Given the description of an element on the screen output the (x, y) to click on. 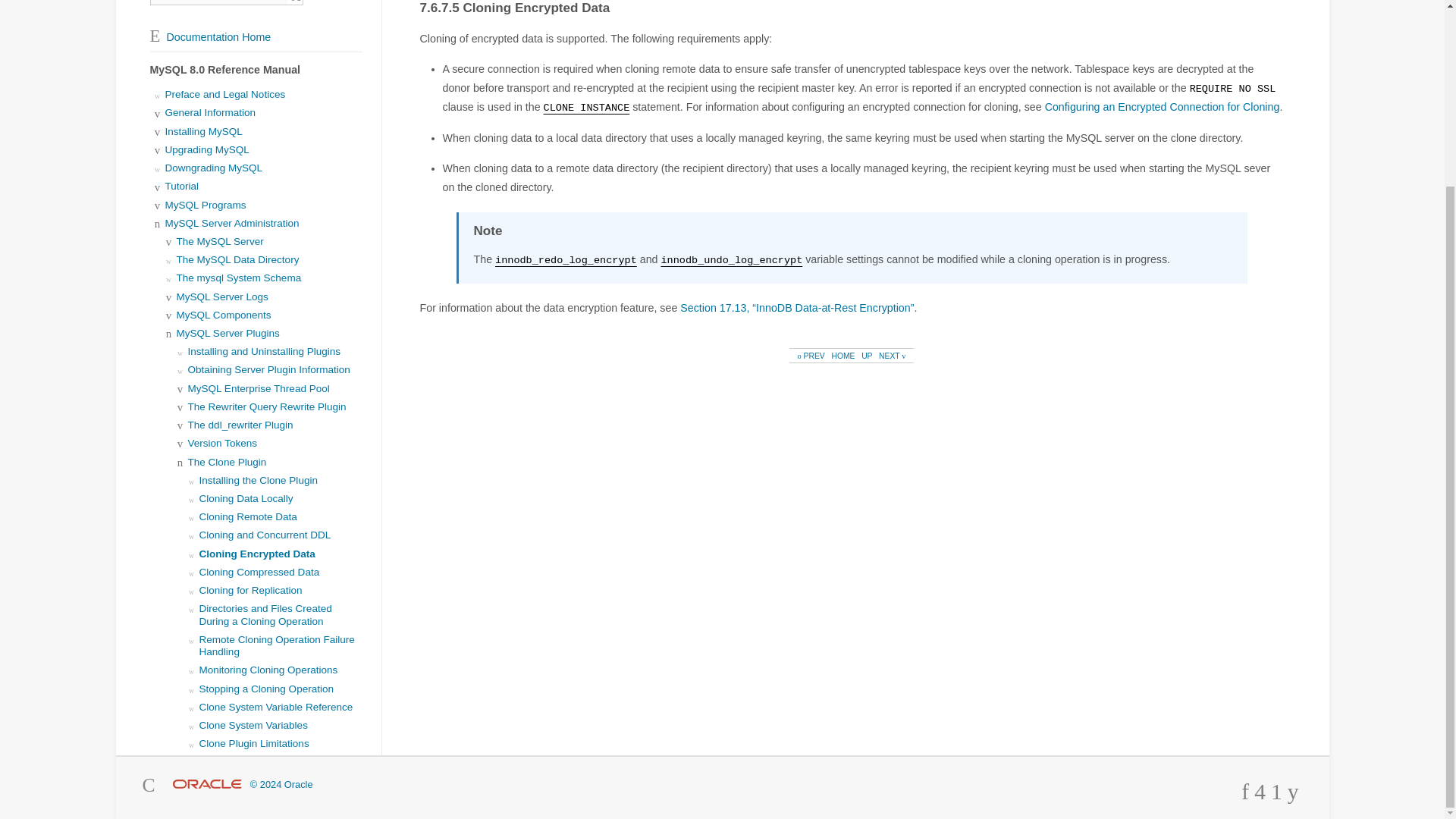
Documentation Home (209, 37)
Installing MySQL (204, 131)
Search (295, 2)
Configuring an Encrypted Connection for Cloning (1162, 106)
General Information (210, 112)
Preface and Legal Notices (225, 93)
Search this Manual (217, 2)
Search this Manual (217, 2)
